Given the description of an element on the screen output the (x, y) to click on. 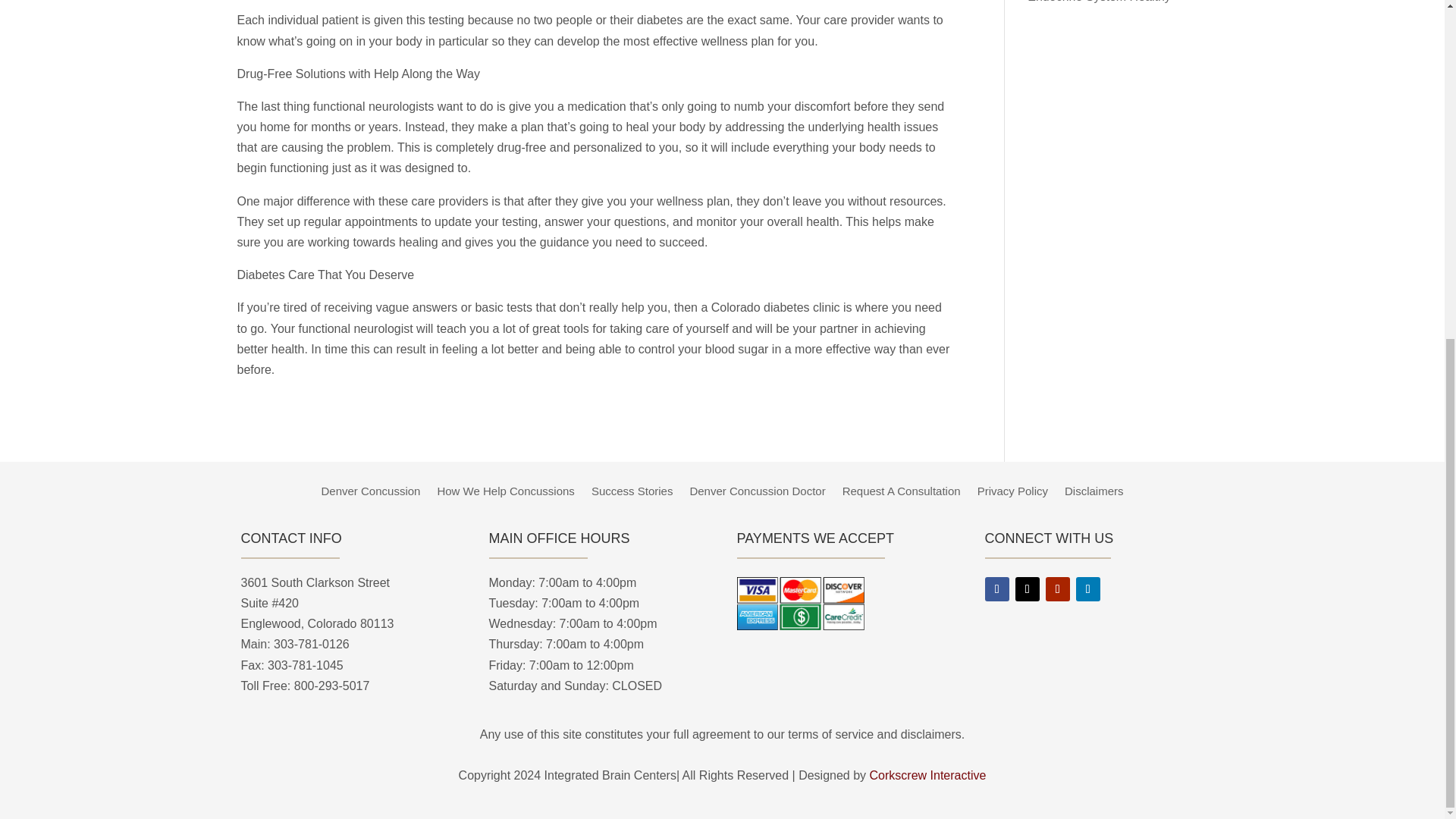
Follow on Youtube (1057, 589)
Follow on Facebook (997, 589)
Follow on X (1026, 589)
Follow on LinkedIn (1087, 589)
